Given the description of an element on the screen output the (x, y) to click on. 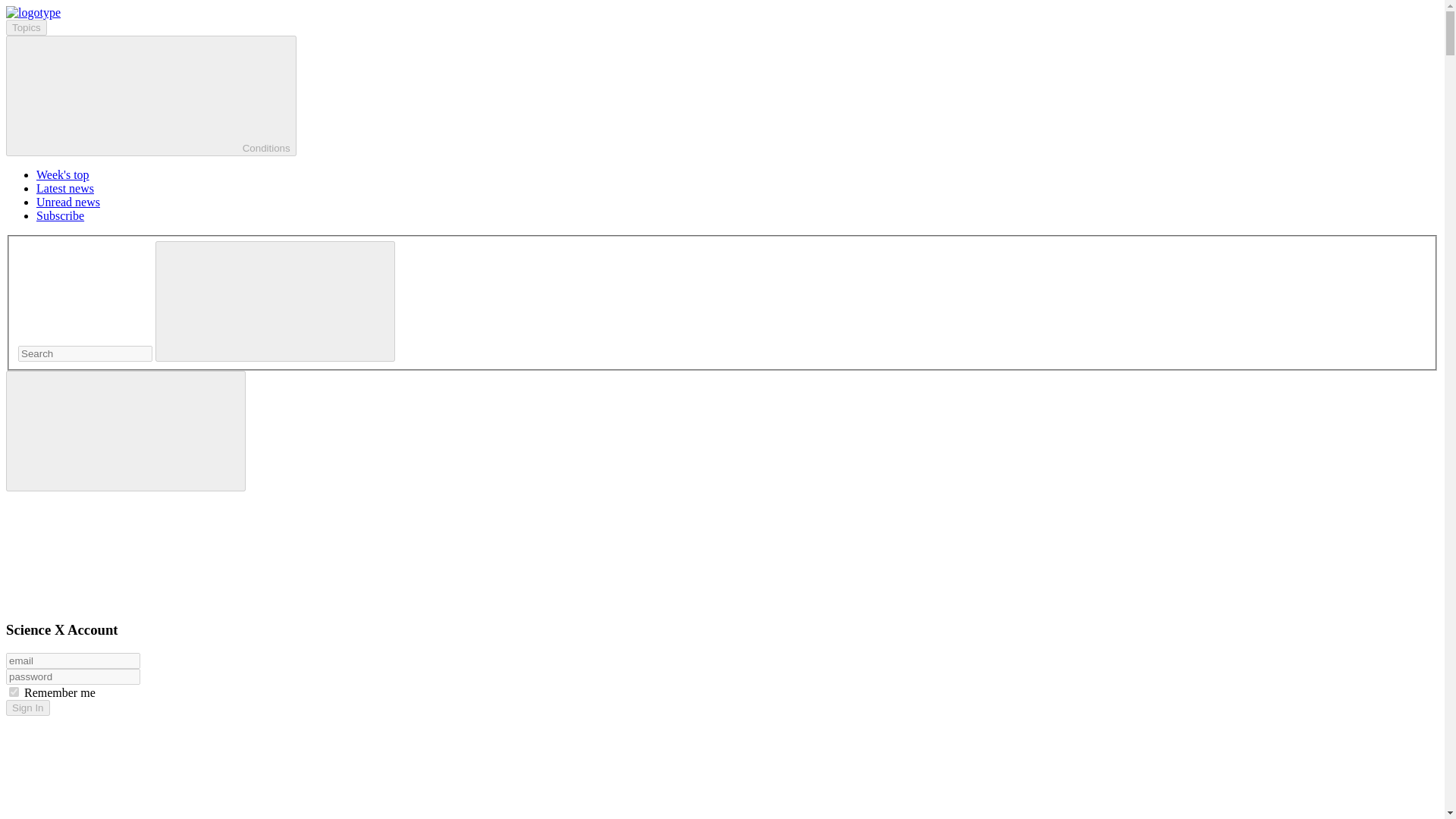
Topics (25, 27)
Conditions (151, 96)
Week's top (62, 174)
Unread news (68, 201)
on (13, 691)
Subscribe (60, 215)
Sign In (27, 707)
Latest news (65, 187)
